Given the description of an element on the screen output the (x, y) to click on. 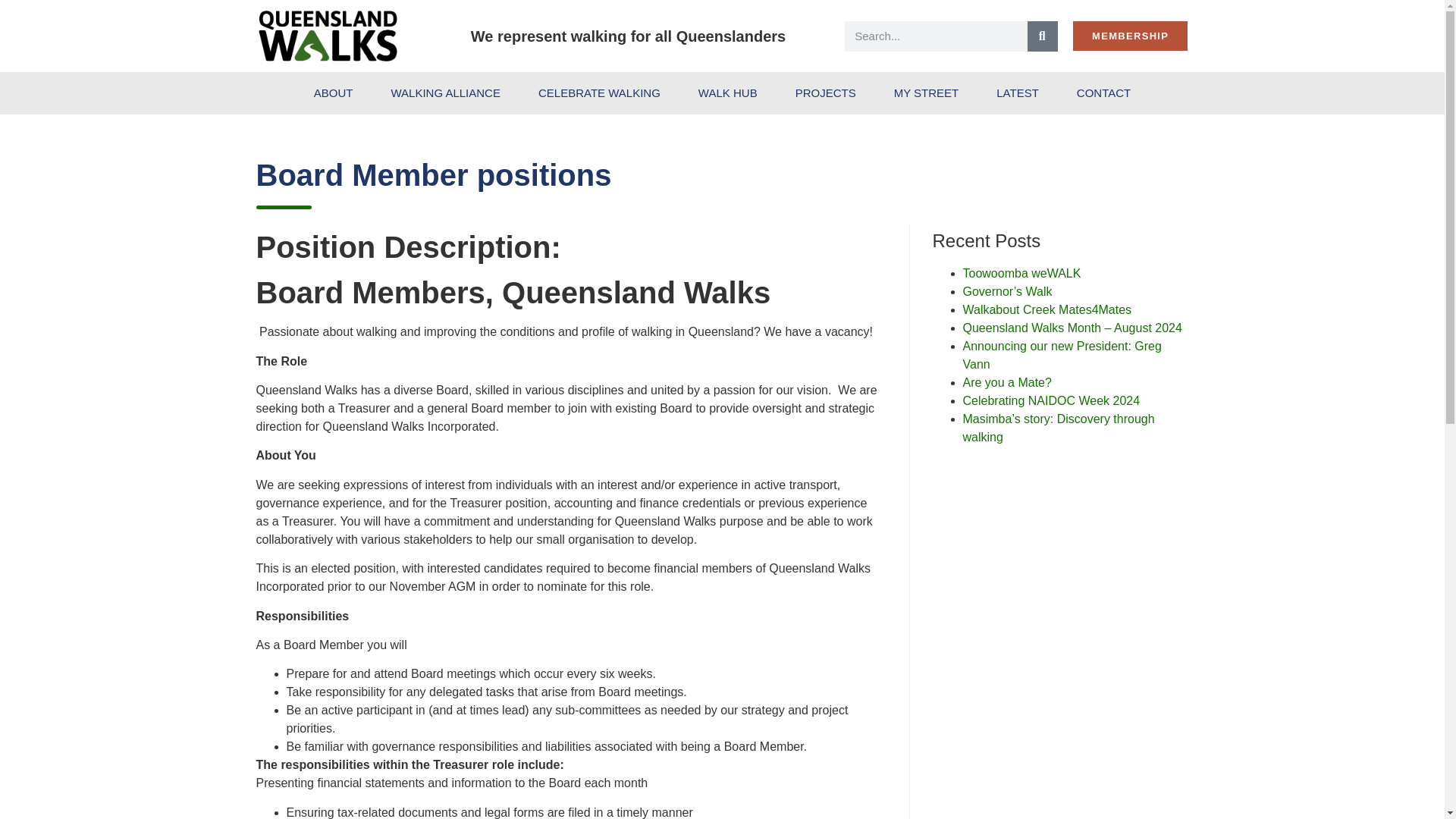
CELEBRATE WALKING (599, 93)
LATEST (1017, 93)
PROJECTS (825, 93)
MEMBERSHIP (1130, 35)
MY STREET (926, 93)
CONTACT (1104, 93)
WALK HUB (727, 93)
ABOUT (333, 93)
WALKING ALLIANCE (445, 93)
